Given the description of an element on the screen output the (x, y) to click on. 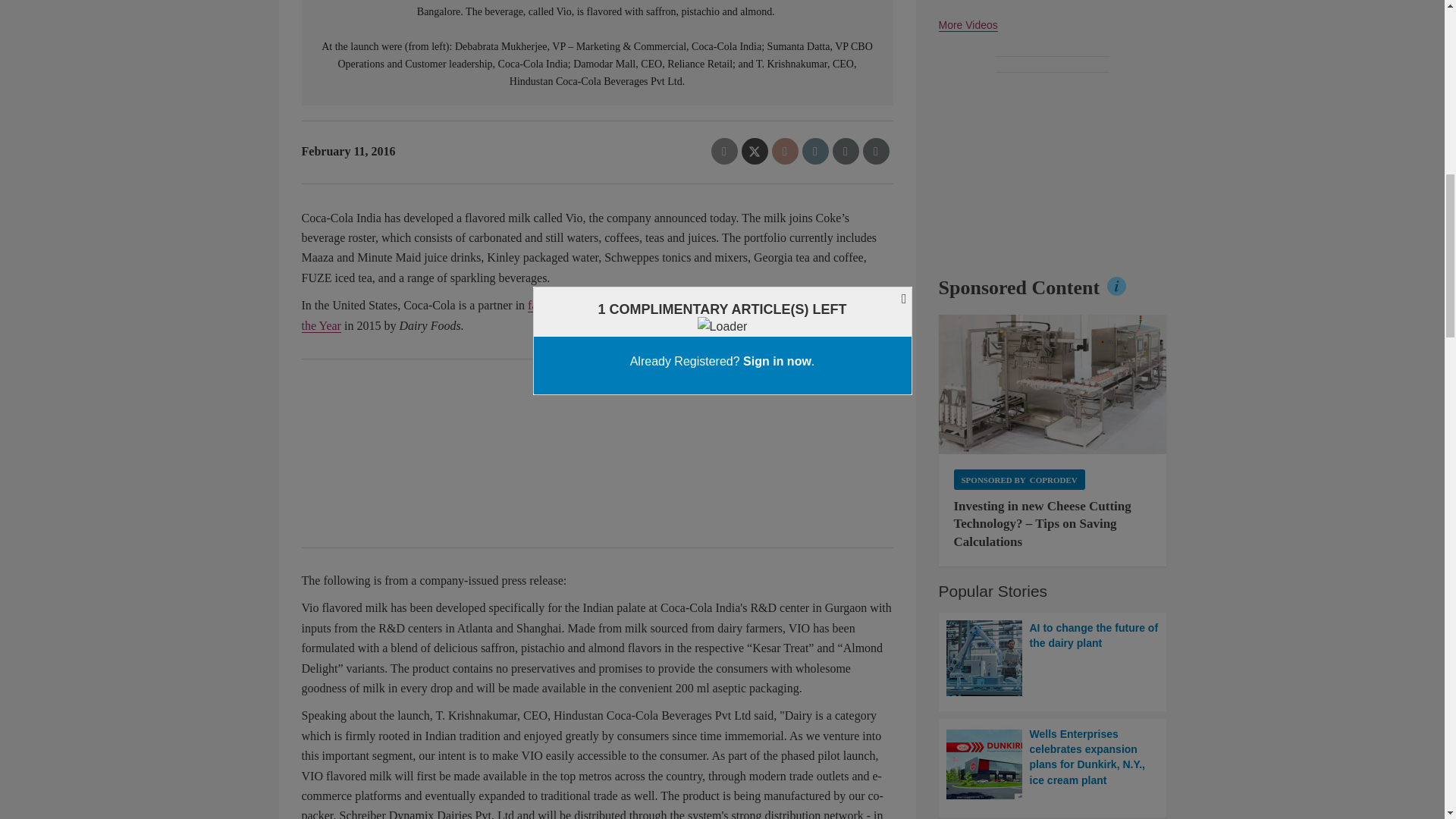
AI to change the future of the dairy plant (1052, 657)
Sponsored by CoProDev (1018, 478)
cheese cutting equipment (1052, 384)
